Given the description of an element on the screen output the (x, y) to click on. 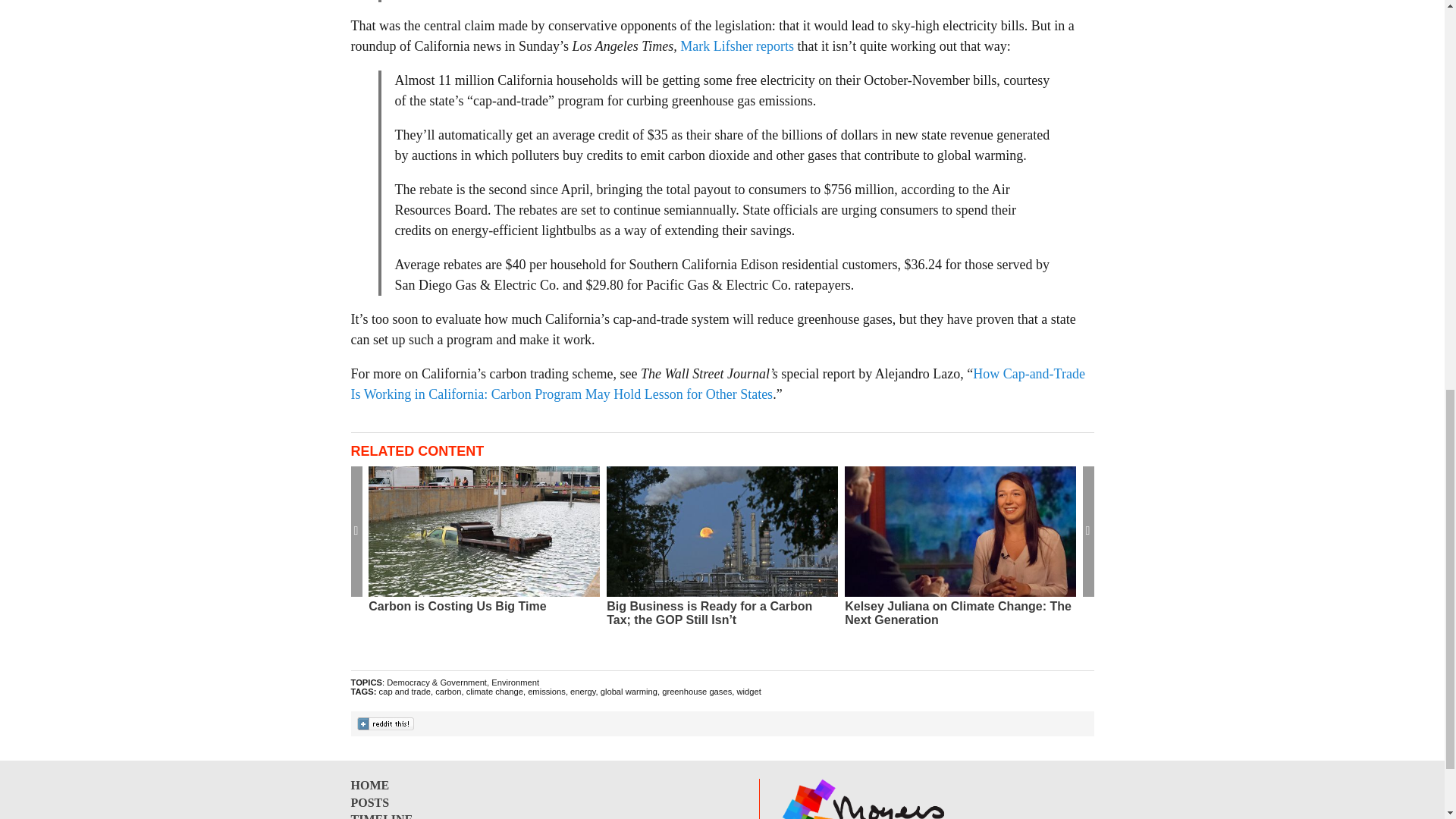
Mark Lifsher reports (736, 46)
